Given the description of an element on the screen output the (x, y) to click on. 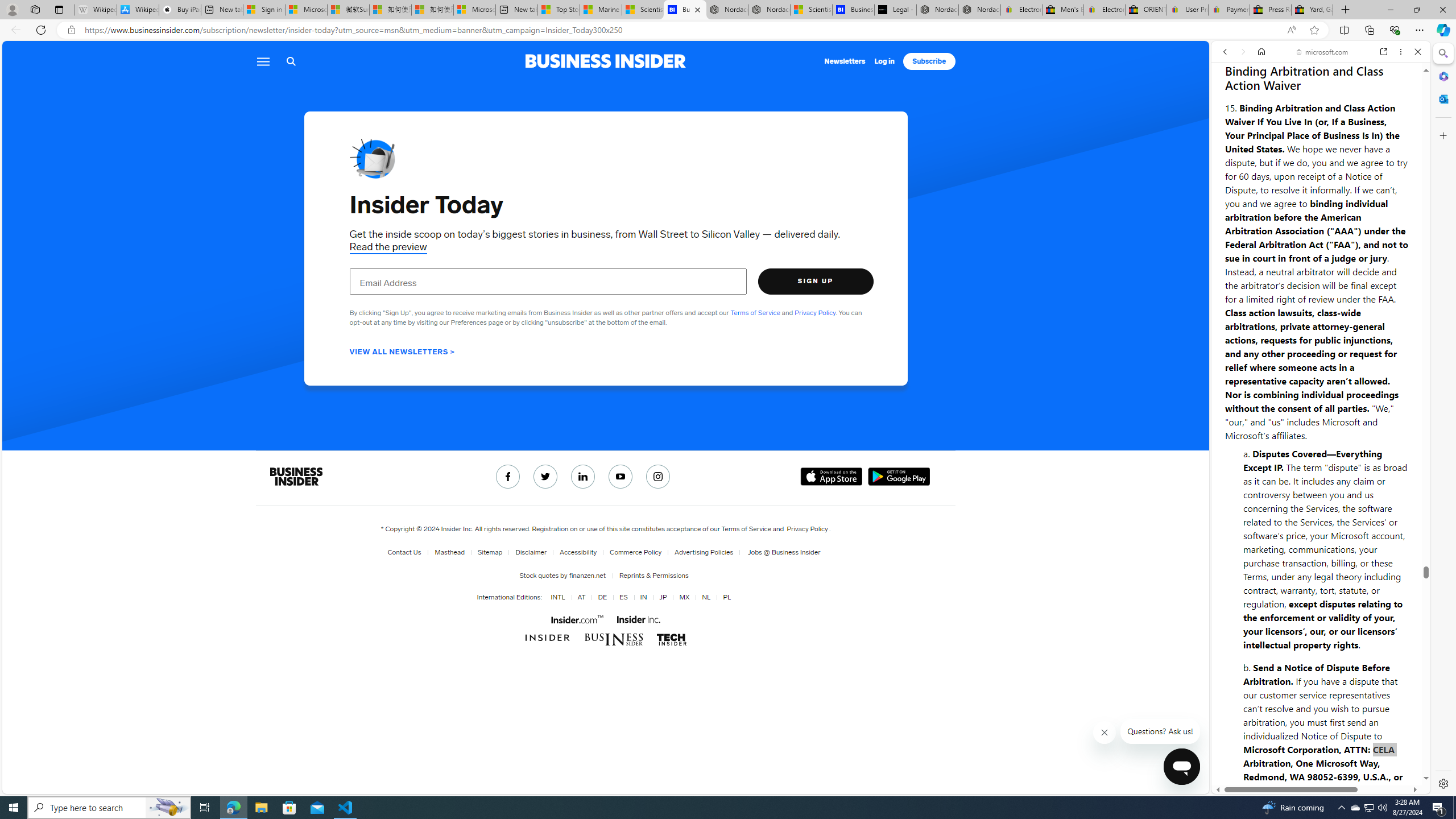
Download on the App Store (830, 476)
Masthead (449, 552)
Insider-Inc Logo (638, 619)
Accessibility (577, 552)
JP (662, 597)
VIEW ALL NEWSLETTERS > (401, 351)
Privacy Policy (806, 528)
International Editions: (509, 597)
Tech Insider Logo (670, 639)
Download on the App Store (830, 476)
